Given the description of an element on the screen output the (x, y) to click on. 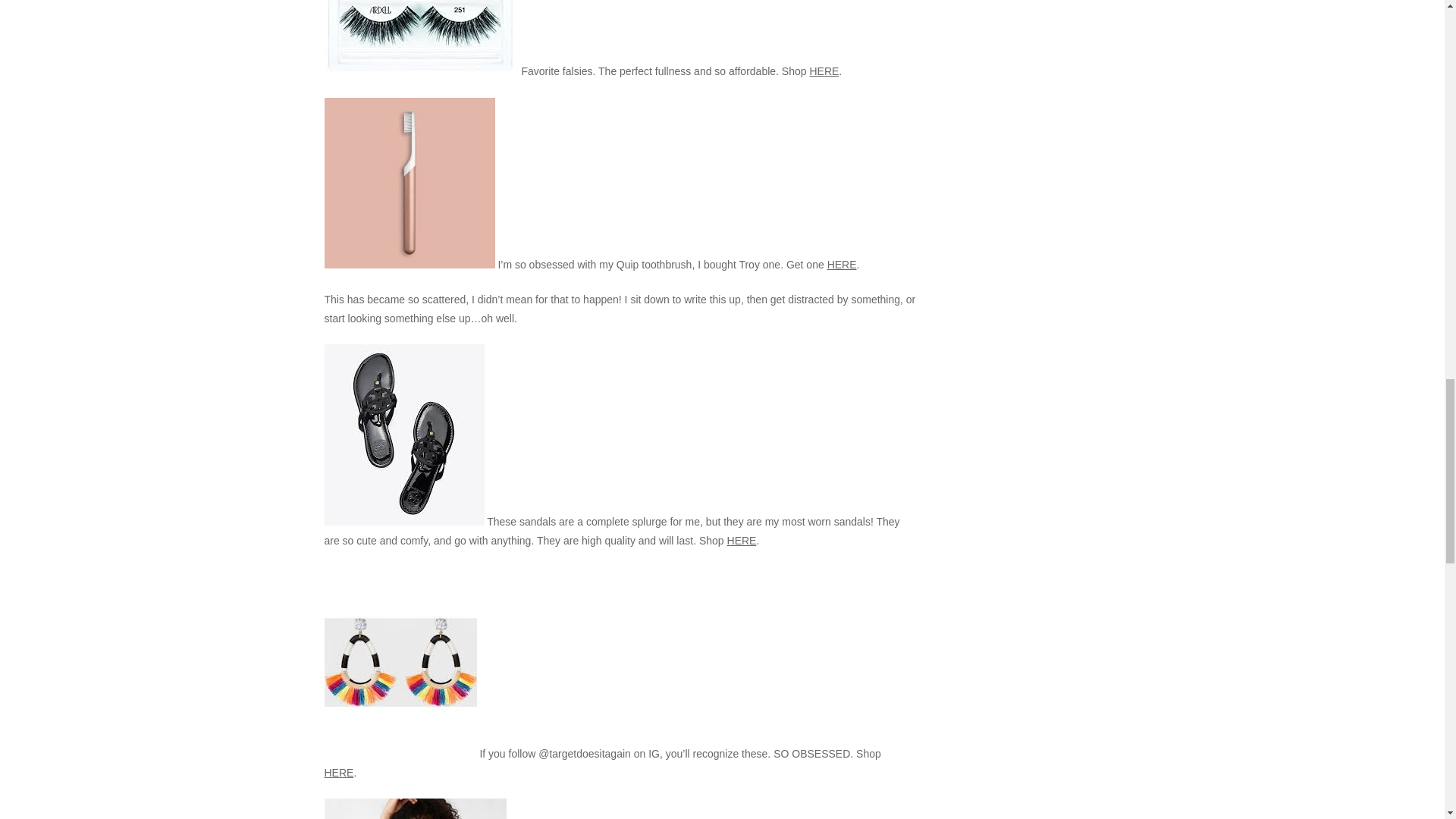
HERE (338, 772)
HERE (741, 540)
HERE (842, 264)
HERE (823, 70)
